Given the description of an element on the screen output the (x, y) to click on. 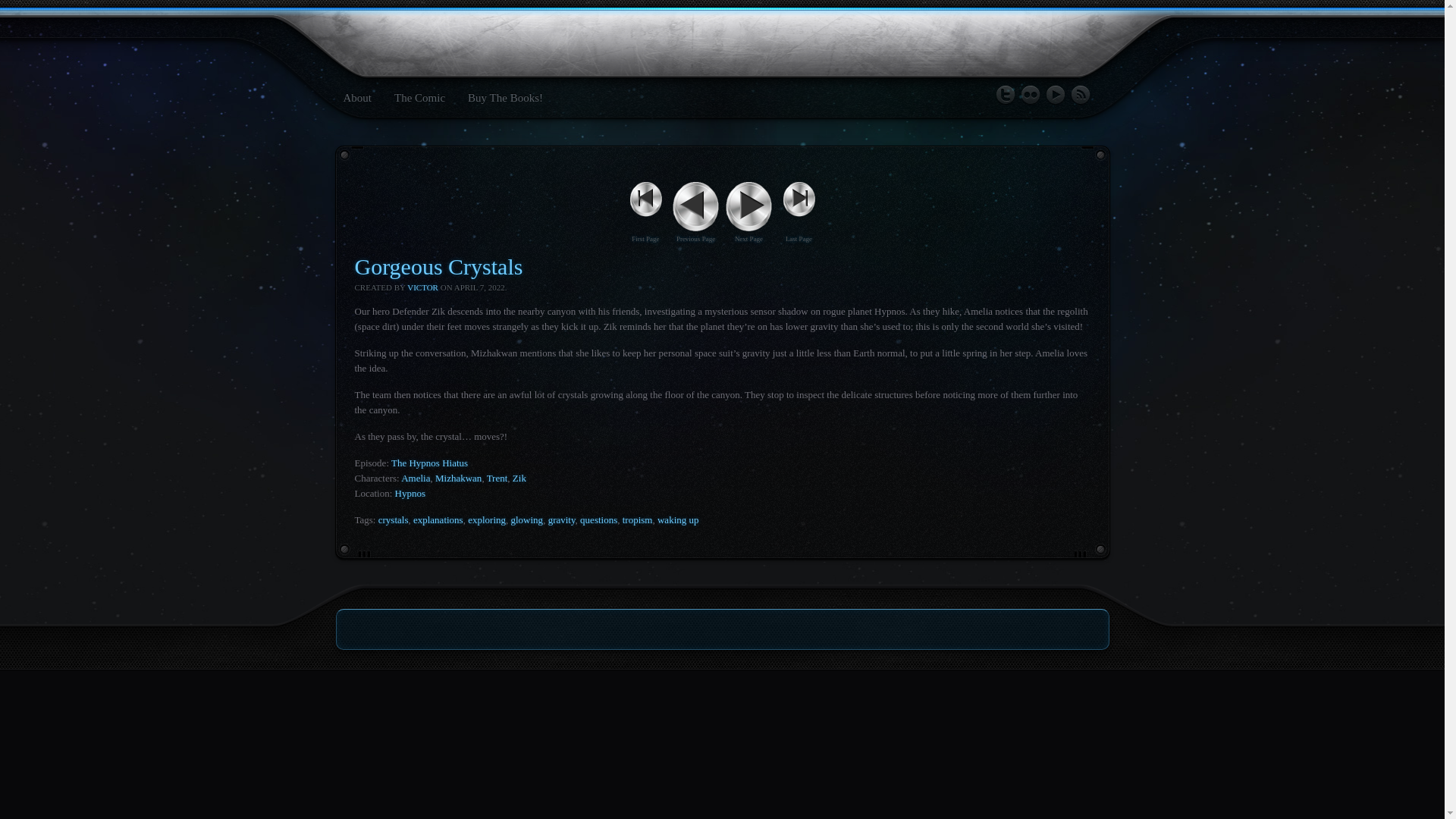
Amelia (415, 478)
glowing (527, 519)
Hypnos (409, 492)
Trent (497, 478)
gravity (561, 519)
About (356, 97)
Zik (518, 478)
explanations (438, 519)
Mizhakwan (458, 478)
crystals (393, 519)
